Given the description of an element on the screen output the (x, y) to click on. 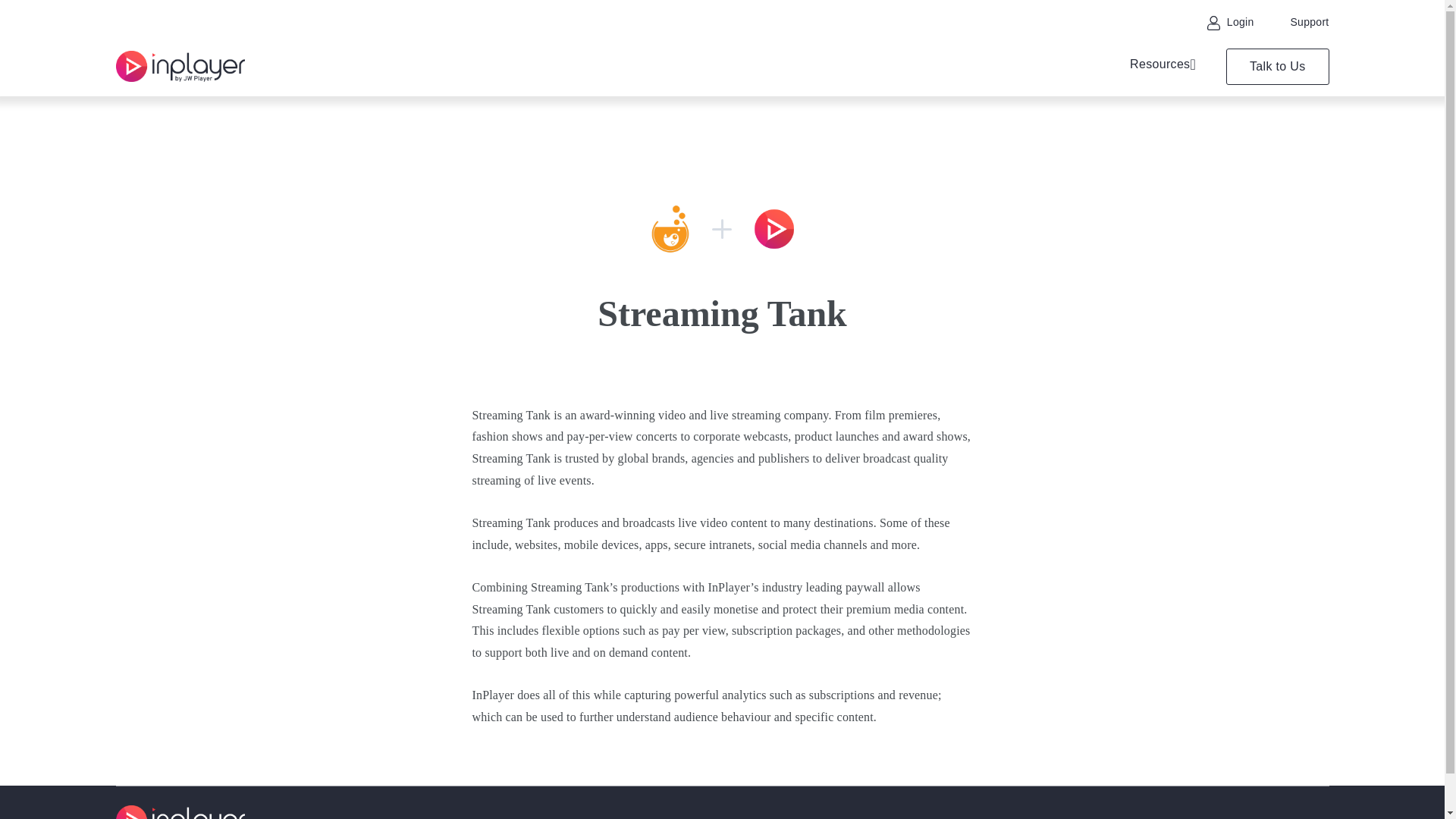
Support (1309, 21)
Talk to Us (1276, 66)
Login (1230, 21)
